Given the description of an element on the screen output the (x, y) to click on. 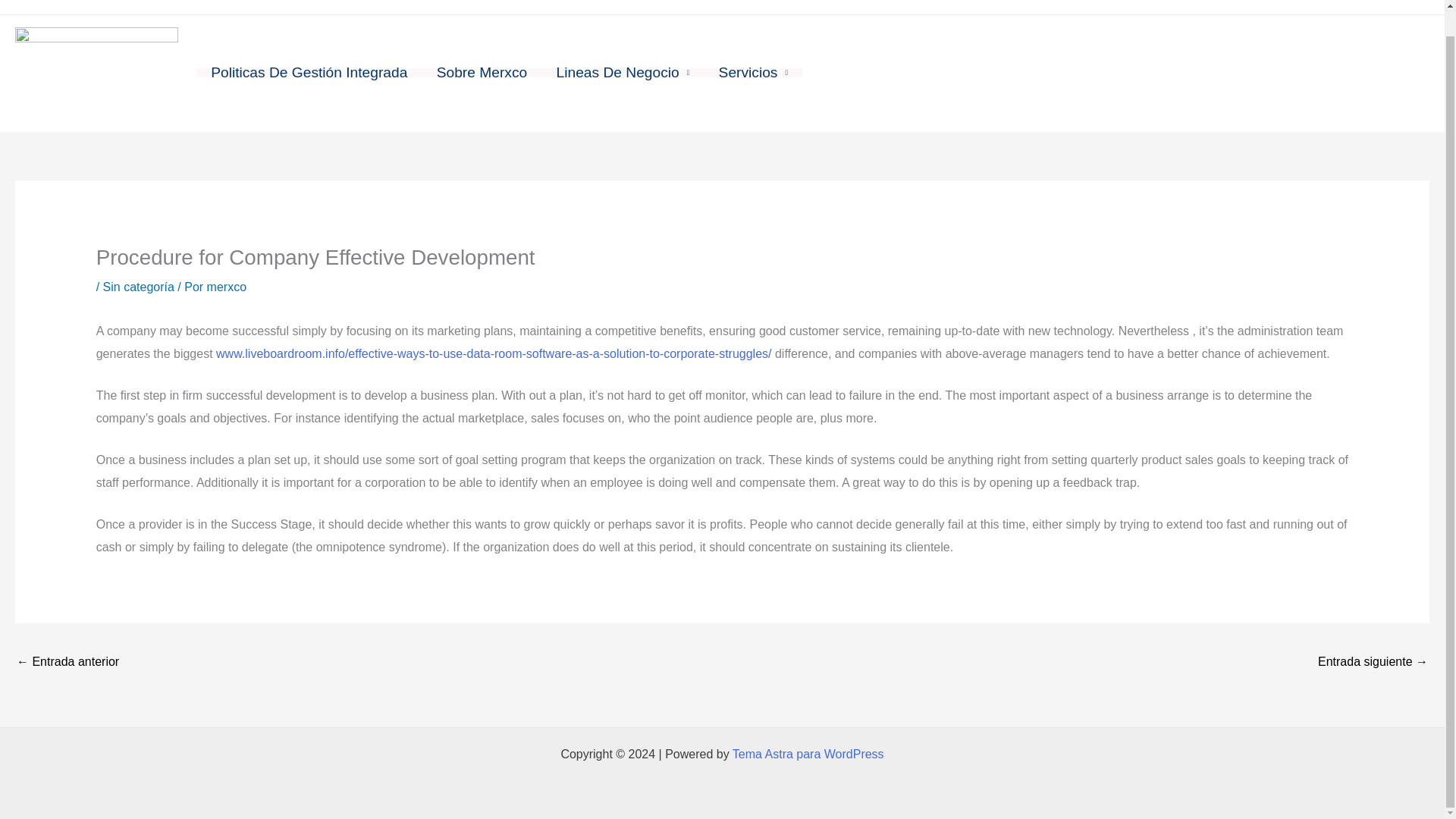
In the event Avast Says I Have A Spy Cookie (1372, 663)
Business Software Ratings (67, 663)
Contacto (1356, 0)
Ver todas las entradas de merxco (226, 286)
Servicios (752, 71)
Sobre Merxco (481, 71)
Lineas De Negocio (622, 71)
